Given the description of an element on the screen output the (x, y) to click on. 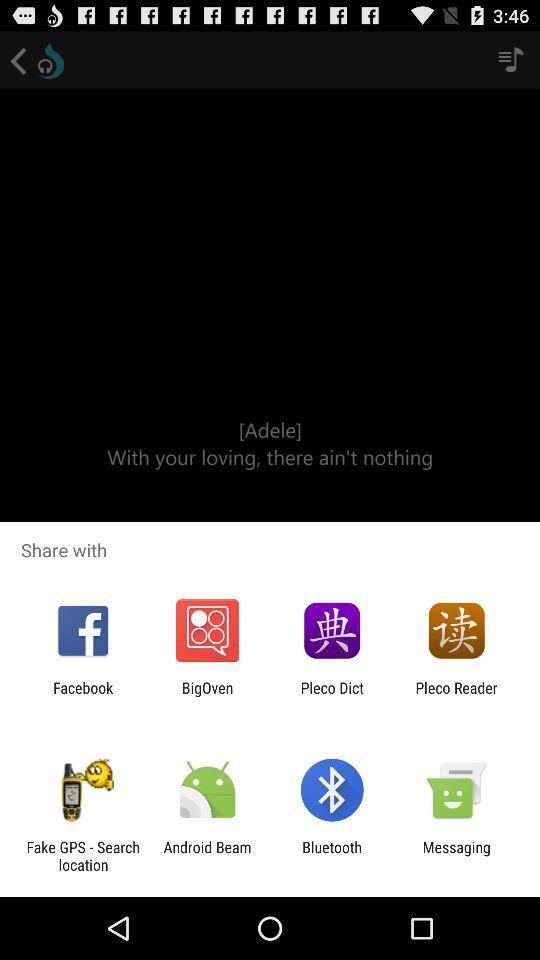
select the icon next to facebook item (207, 696)
